Given the description of an element on the screen output the (x, y) to click on. 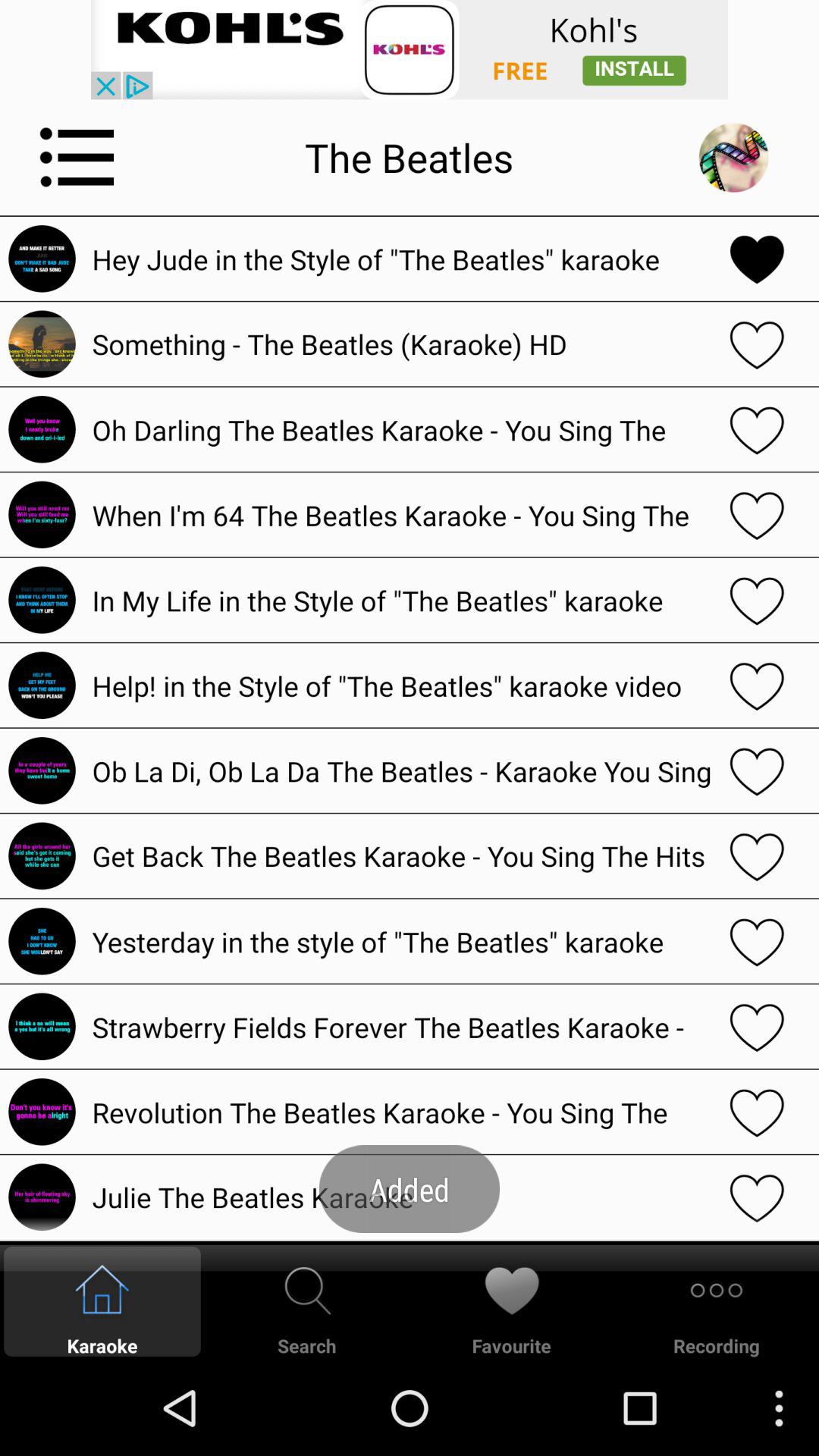
favourite button (756, 941)
